Given the description of an element on the screen output the (x, y) to click on. 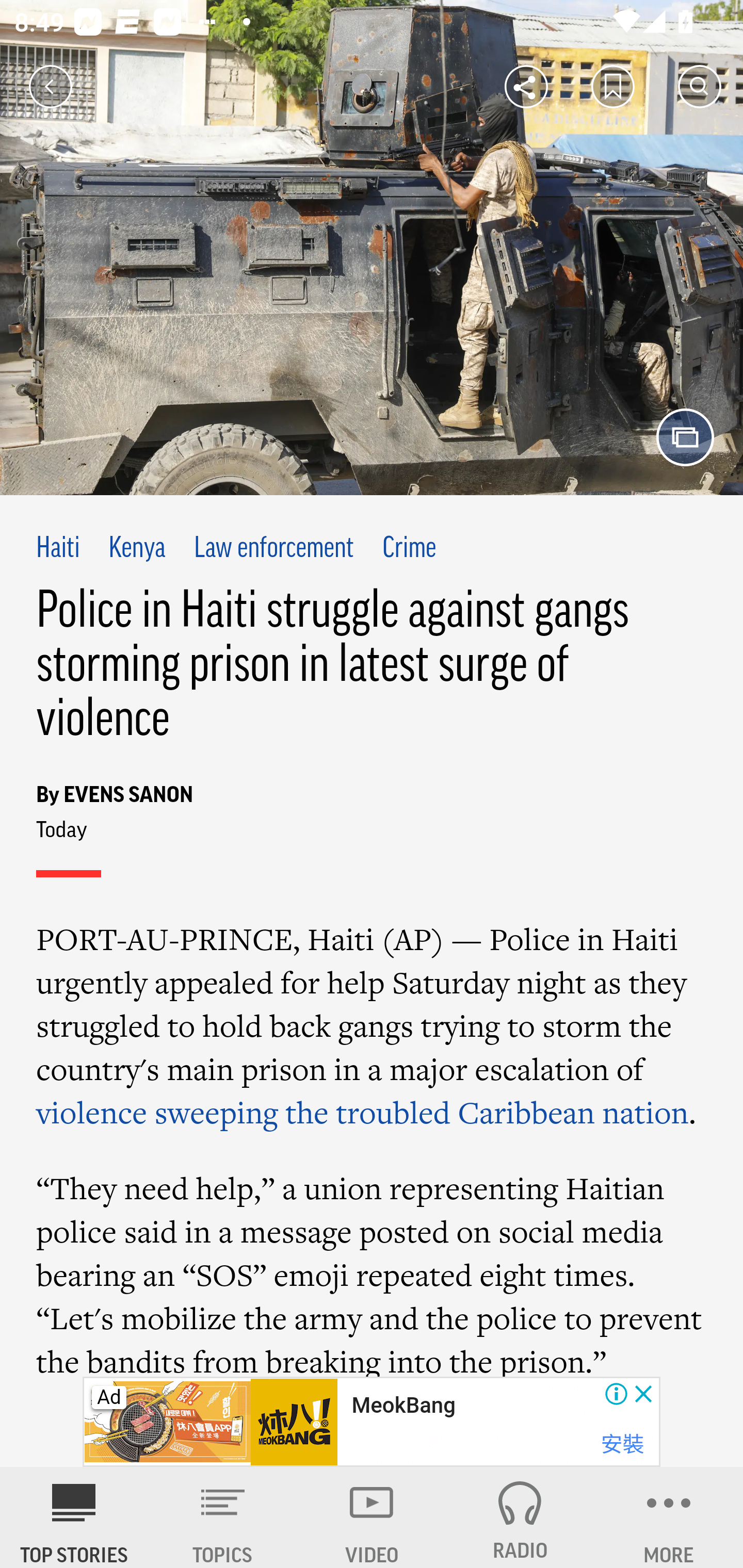
Haiti (58, 549)
Kenya (137, 549)
Law enforcement (274, 549)
Crime (408, 549)
violence sweeping the troubled Caribbean nation (362, 1112)
MeokBang (402, 1405)
安裝 (621, 1444)
AP News TOP STORIES (74, 1517)
TOPICS (222, 1517)
VIDEO (371, 1517)
RADIO (519, 1517)
MORE (668, 1517)
